Given the description of an element on the screen output the (x, y) to click on. 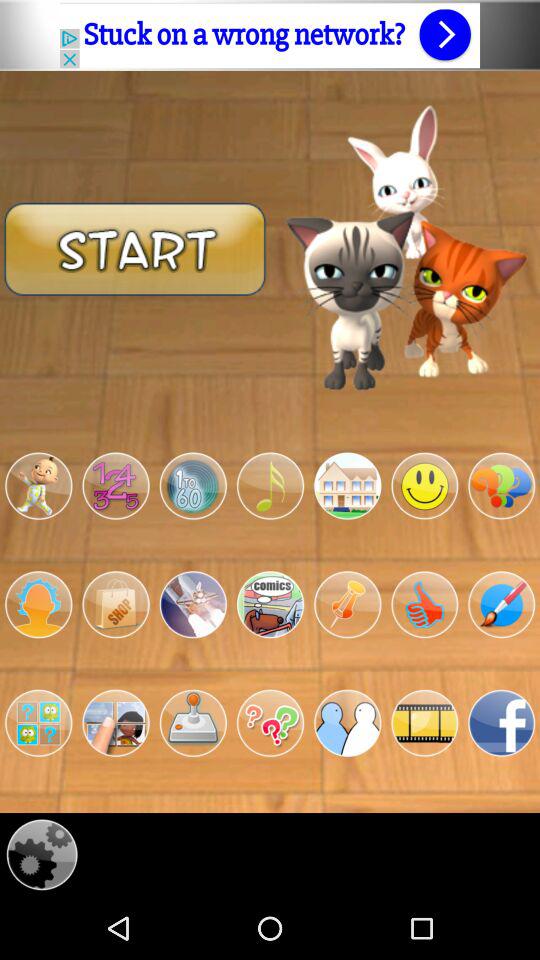
visit the shop (115, 604)
